Given the description of an element on the screen output the (x, y) to click on. 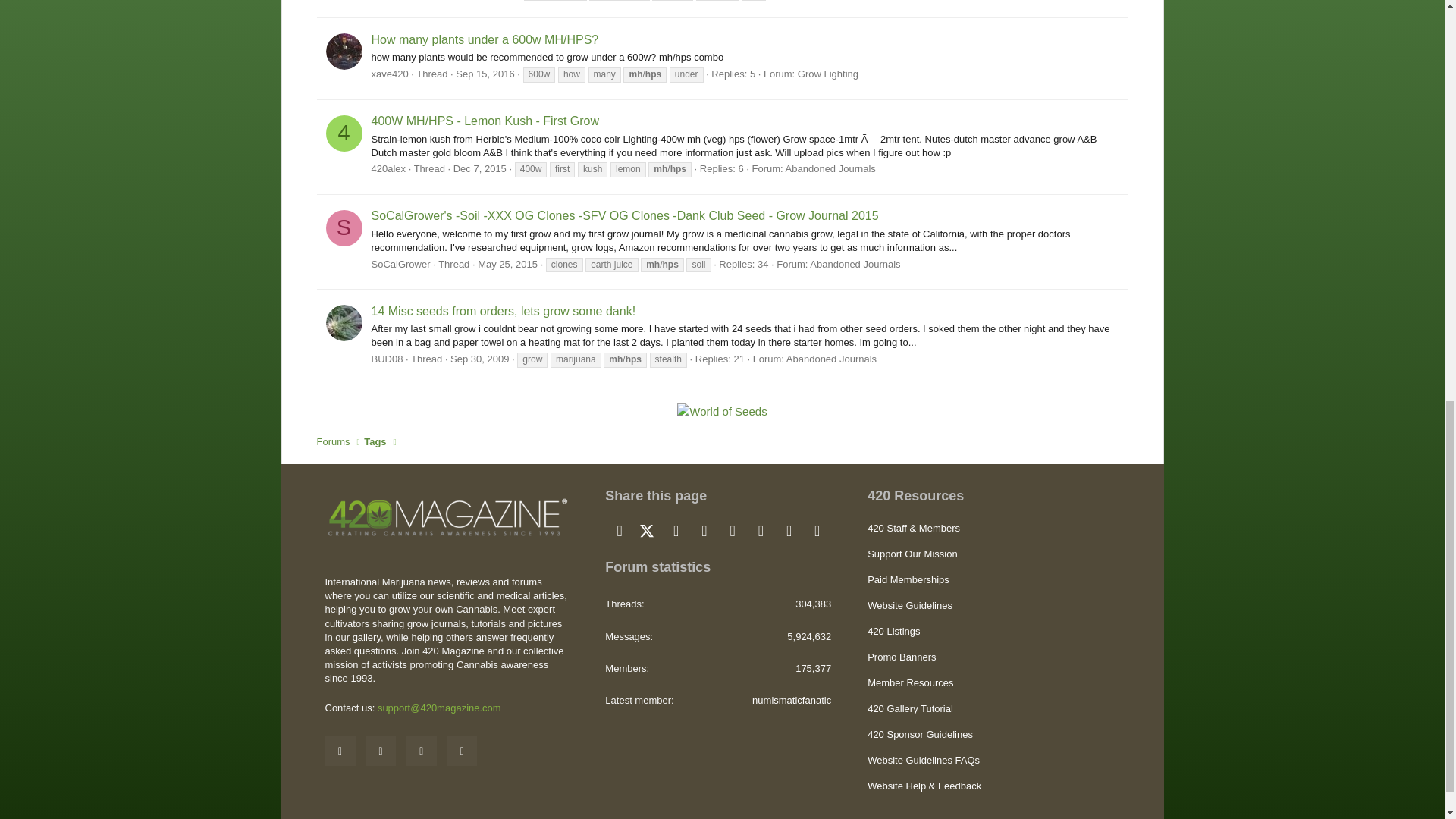
Sep 15, 2016 at 2:42 PM (484, 73)
World of Seeds (722, 411)
Sep 30, 2009 at 7:26 PM (478, 358)
420 Magazine - Medical Marijuana News (446, 515)
Dec 7, 2015 at 5:37 AM (479, 168)
May 25, 2015 at 9:37 AM (507, 264)
